Given the description of an element on the screen output the (x, y) to click on. 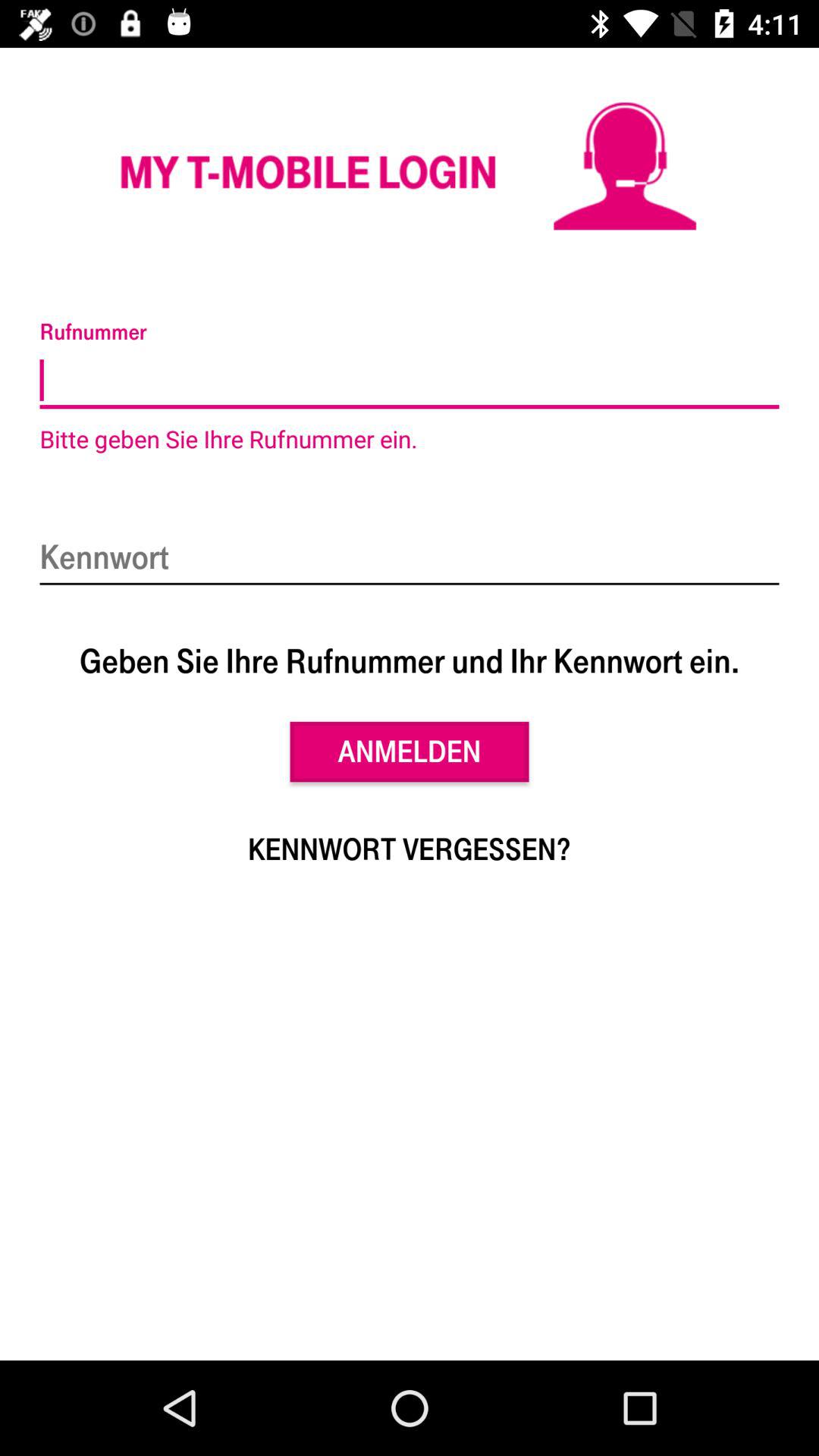
click item above geben sie ihre item (409, 558)
